Given the description of an element on the screen output the (x, y) to click on. 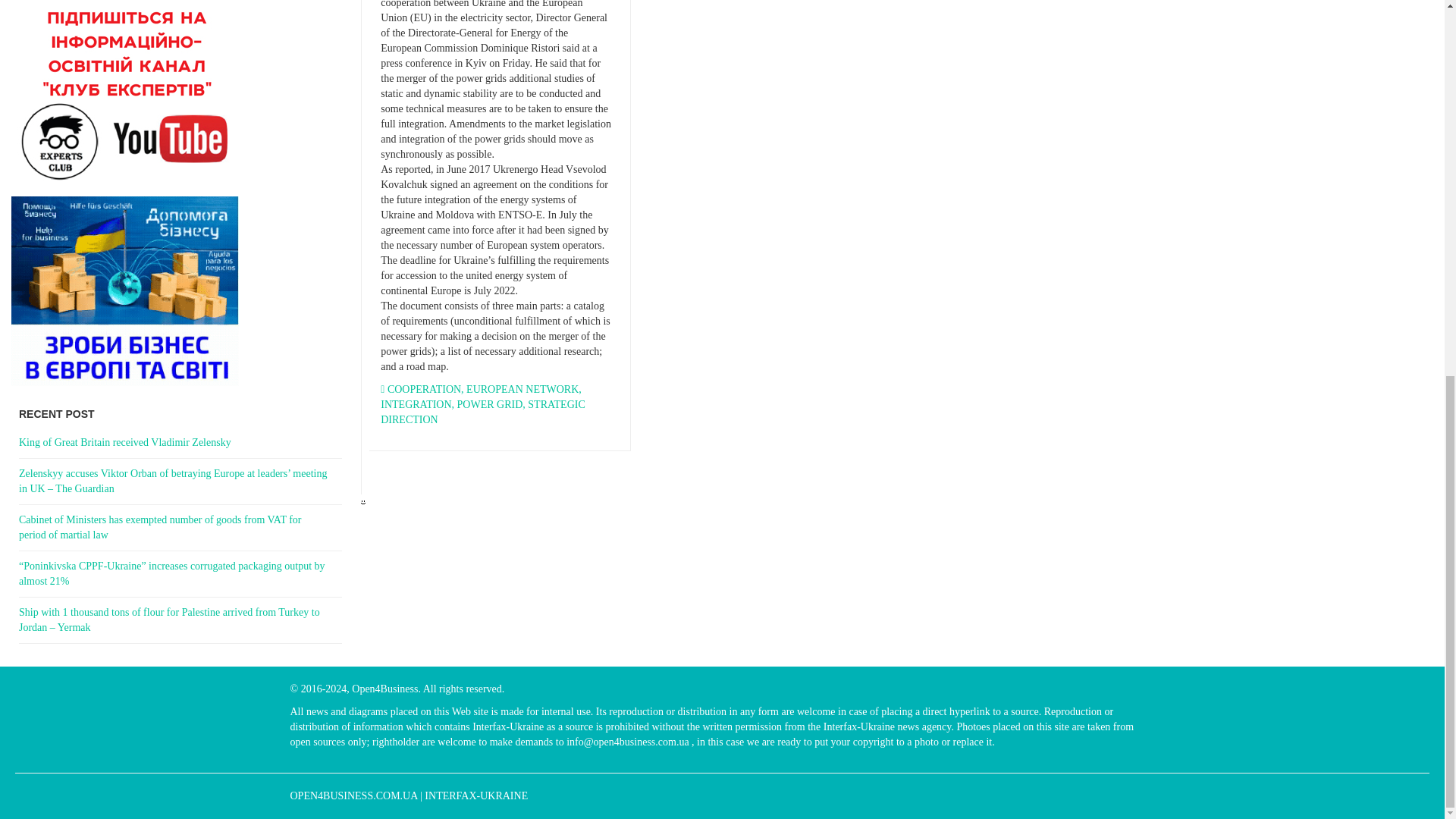
King of Great Britain received Vladimir Zelensky (180, 442)
OPEN4BUSINESS.COM.UA (352, 795)
INTEGRATION (415, 404)
COOPERATION (424, 389)
POWER GRID (489, 404)
EUROPEAN NETWORK (521, 389)
STRATEGIC DIRECTION (482, 411)
